Given the description of an element on the screen output the (x, y) to click on. 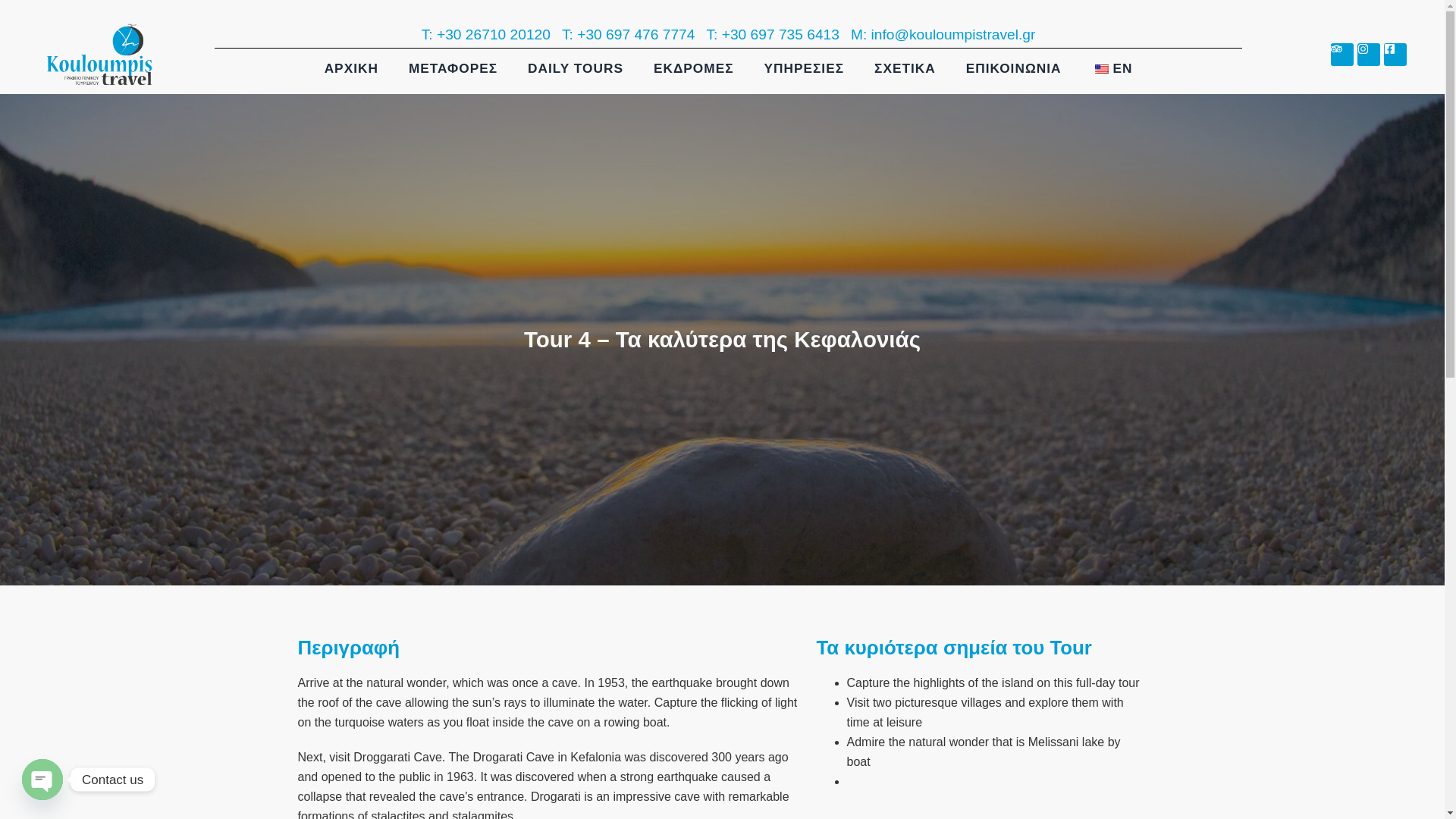
EN (1111, 67)
English (1101, 68)
DAILY TOURS (575, 67)
